Given the description of an element on the screen output the (x, y) to click on. 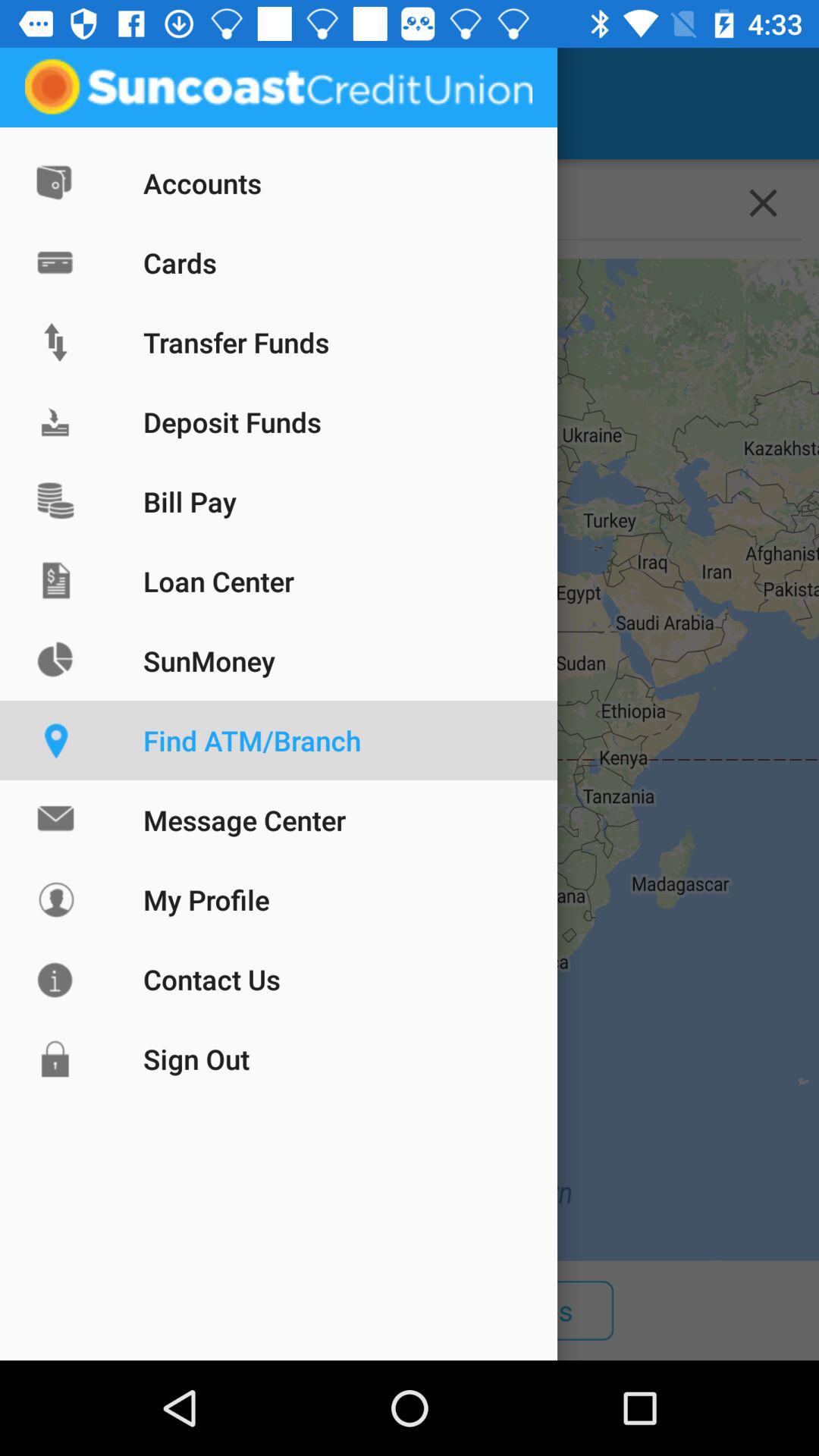
select the app to the left of locations item (55, 103)
